Given the description of an element on the screen output the (x, y) to click on. 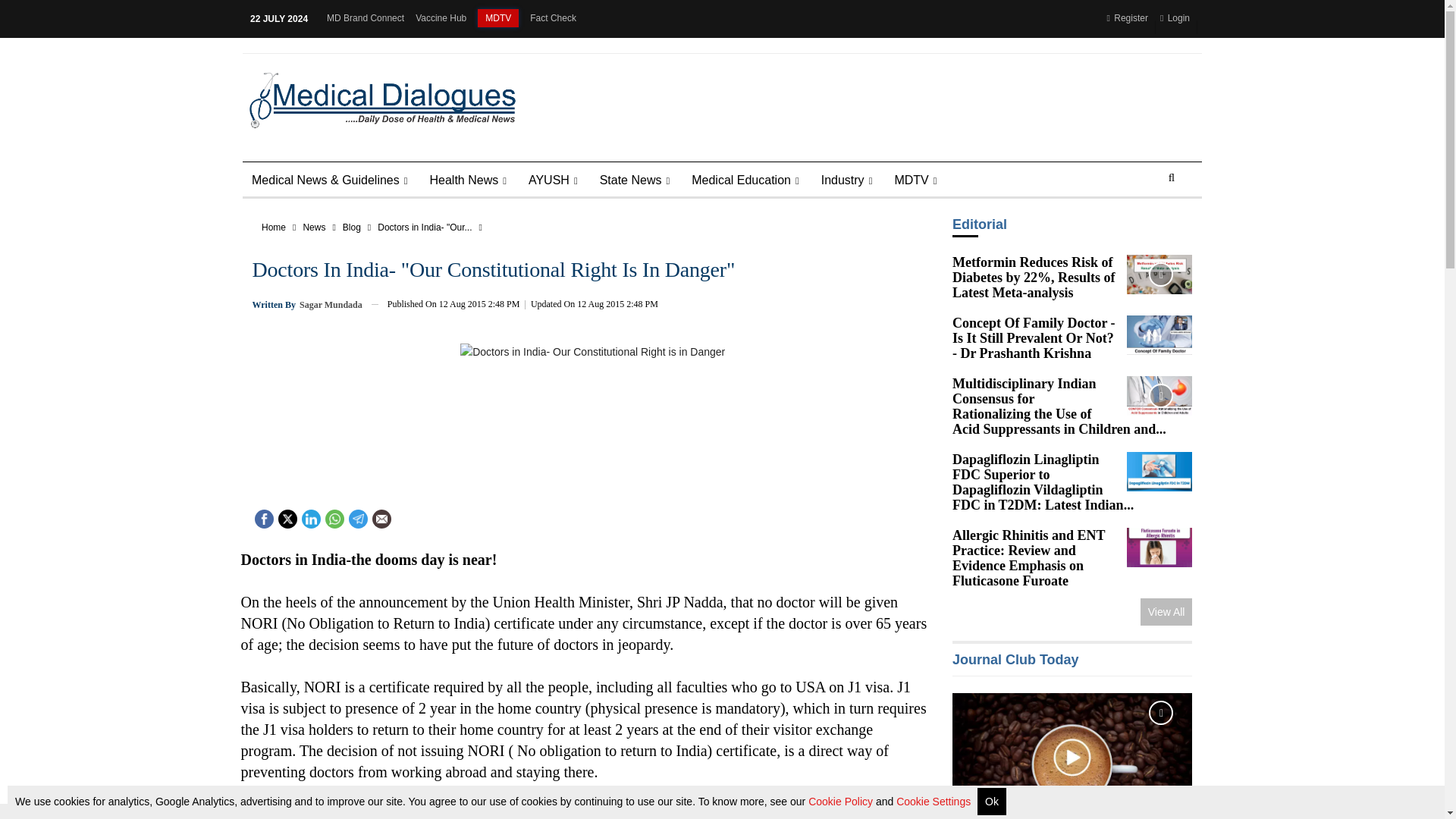
Facebook (263, 517)
Vaccine Hub (439, 18)
Doctors in India- Our Constitutional Right is in Danger (592, 407)
facebook (263, 518)
Share by Email (381, 518)
Medical Dialogues (378, 98)
whatsapp (334, 518)
linkedin (309, 518)
Twitter (287, 517)
MDTV (497, 18)
MD Brand Connect (365, 18)
Fact Check (552, 18)
LinkedIn (310, 517)
telegram (357, 518)
twitter (288, 518)
